Given the description of an element on the screen output the (x, y) to click on. 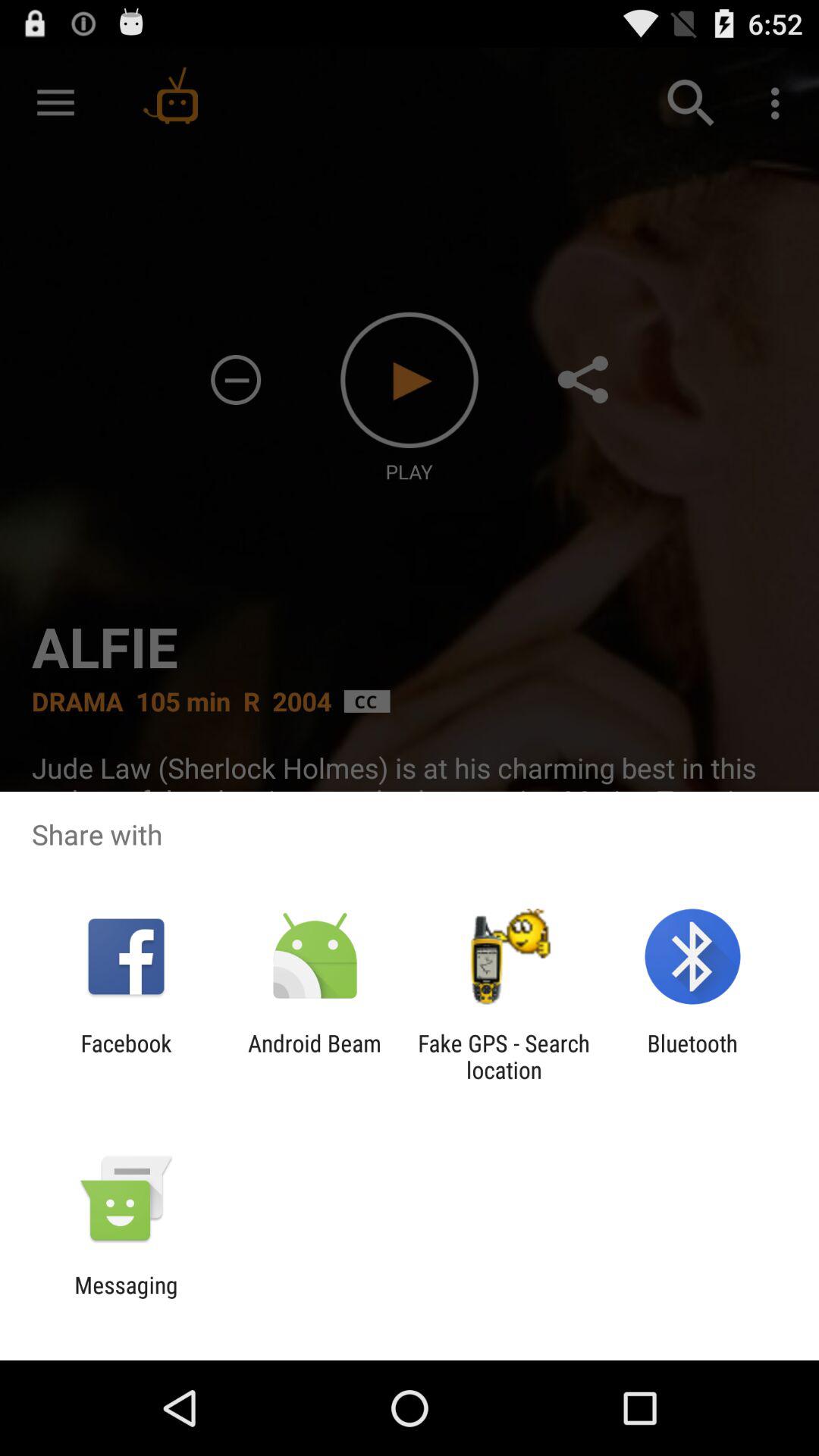
tap app to the right of the facebook app (314, 1056)
